Given the description of an element on the screen output the (x, y) to click on. 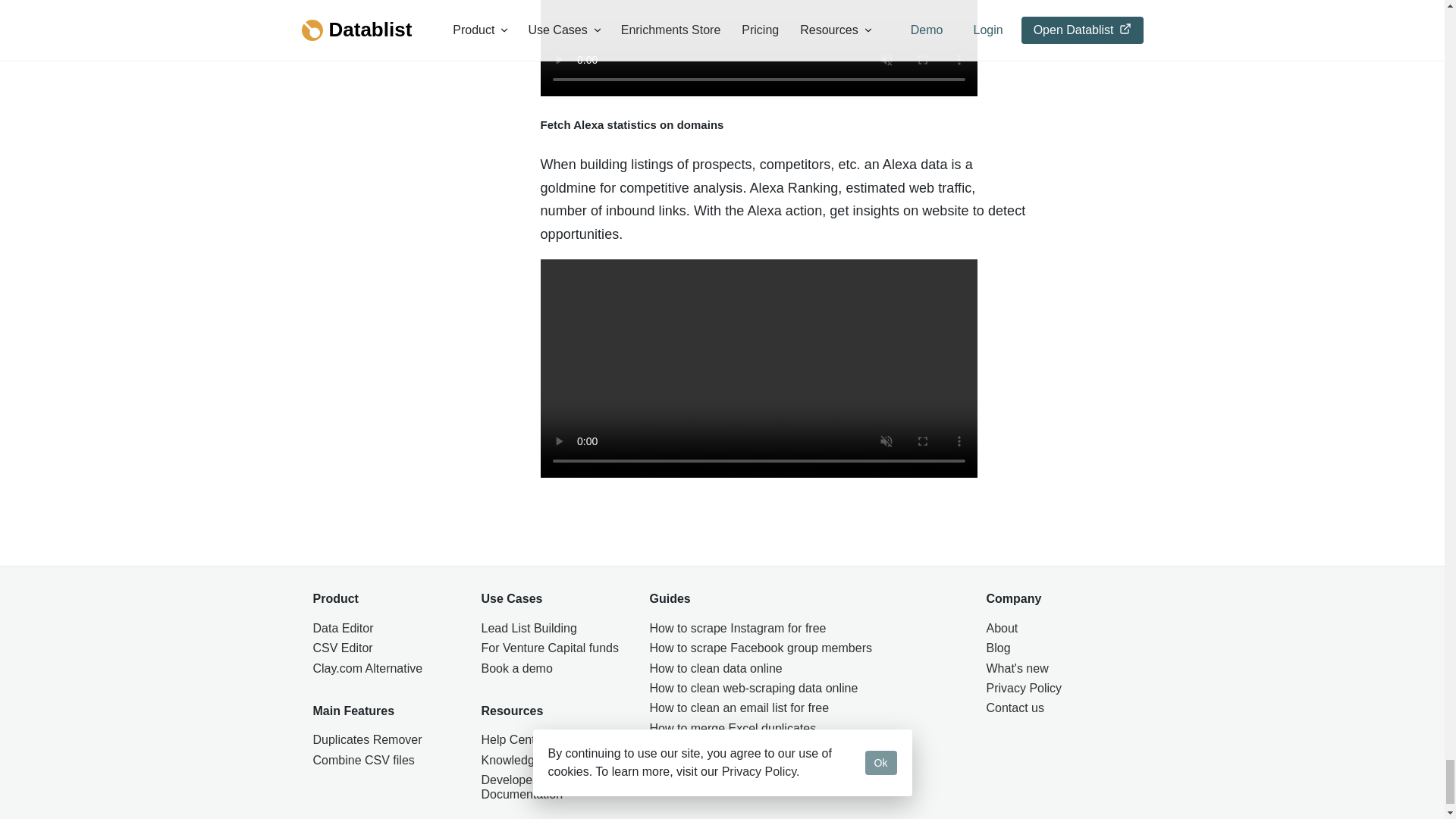
CSV Editor (385, 648)
Lead List Building (554, 628)
Duplicates Remover (385, 740)
Data Editor (385, 628)
Combine CSV files (385, 760)
Clay.com Alternative (385, 668)
